Given the description of an element on the screen output the (x, y) to click on. 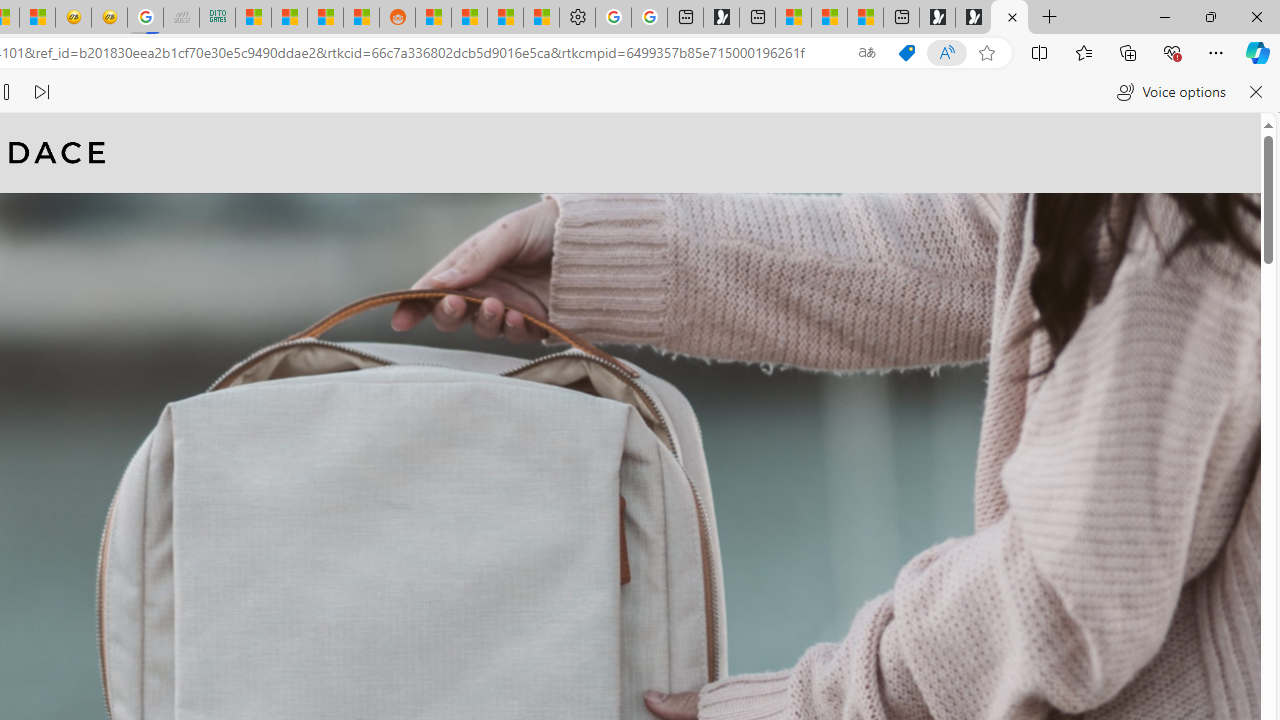
DITOGAMES AG Imprint (217, 17)
Play Free Online Games | Games from Microsoft Start (973, 17)
This site has coupons! Shopping in Microsoft Edge (906, 53)
Voice options (1170, 92)
Nordace - Nordace Siena Is Not An Ordinary Backpack (1009, 17)
Microsoft Start Gaming (721, 17)
